Given the description of an element on the screen output the (x, y) to click on. 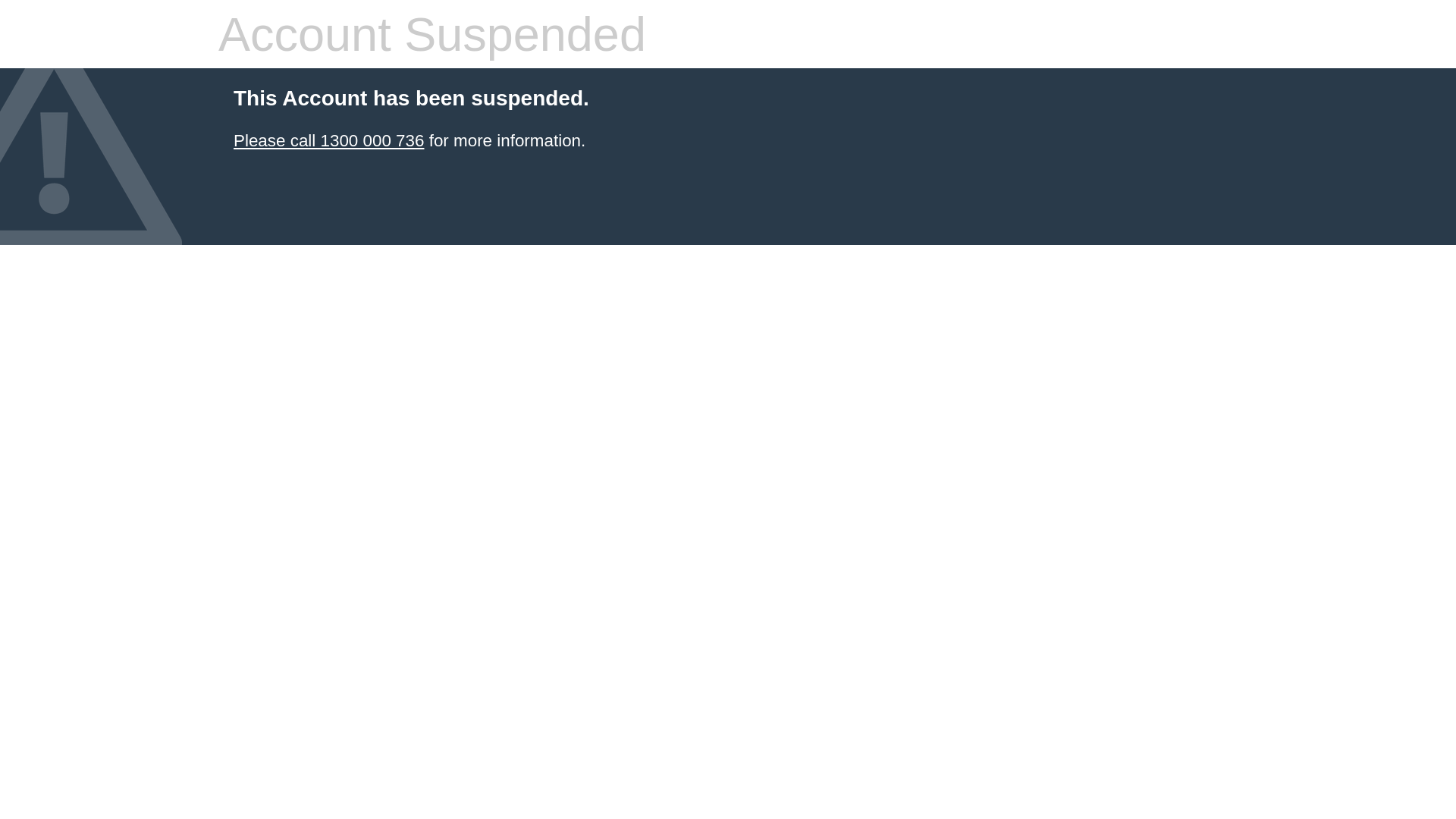
Please call 1300 000 736 Element type: text (328, 140)
